Given the description of an element on the screen output the (x, y) to click on. 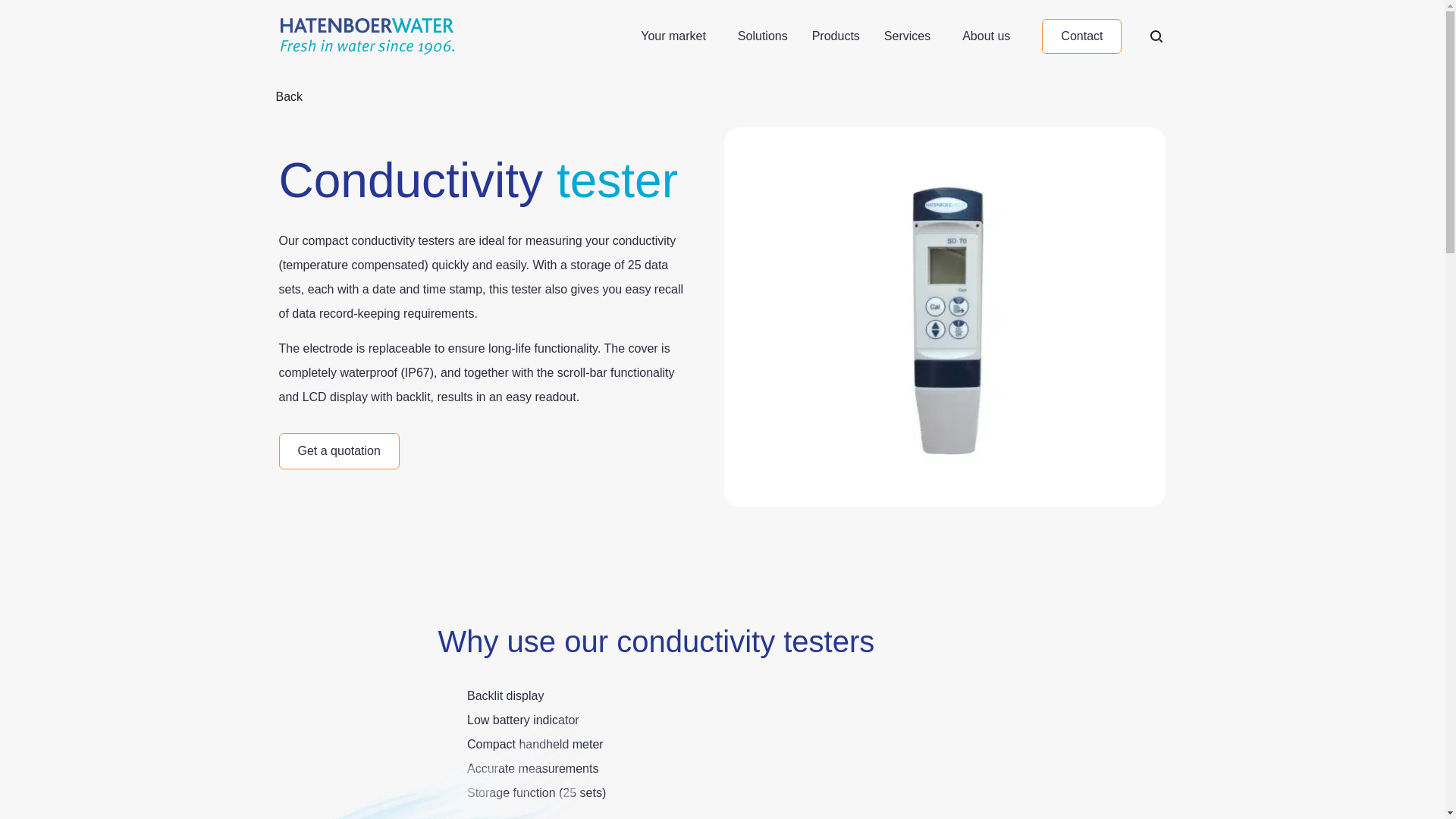
Your market (676, 36)
Solutions (762, 36)
Products (836, 36)
Contact (1081, 35)
About us (989, 36)
Services (910, 36)
